Given the description of an element on the screen output the (x, y) to click on. 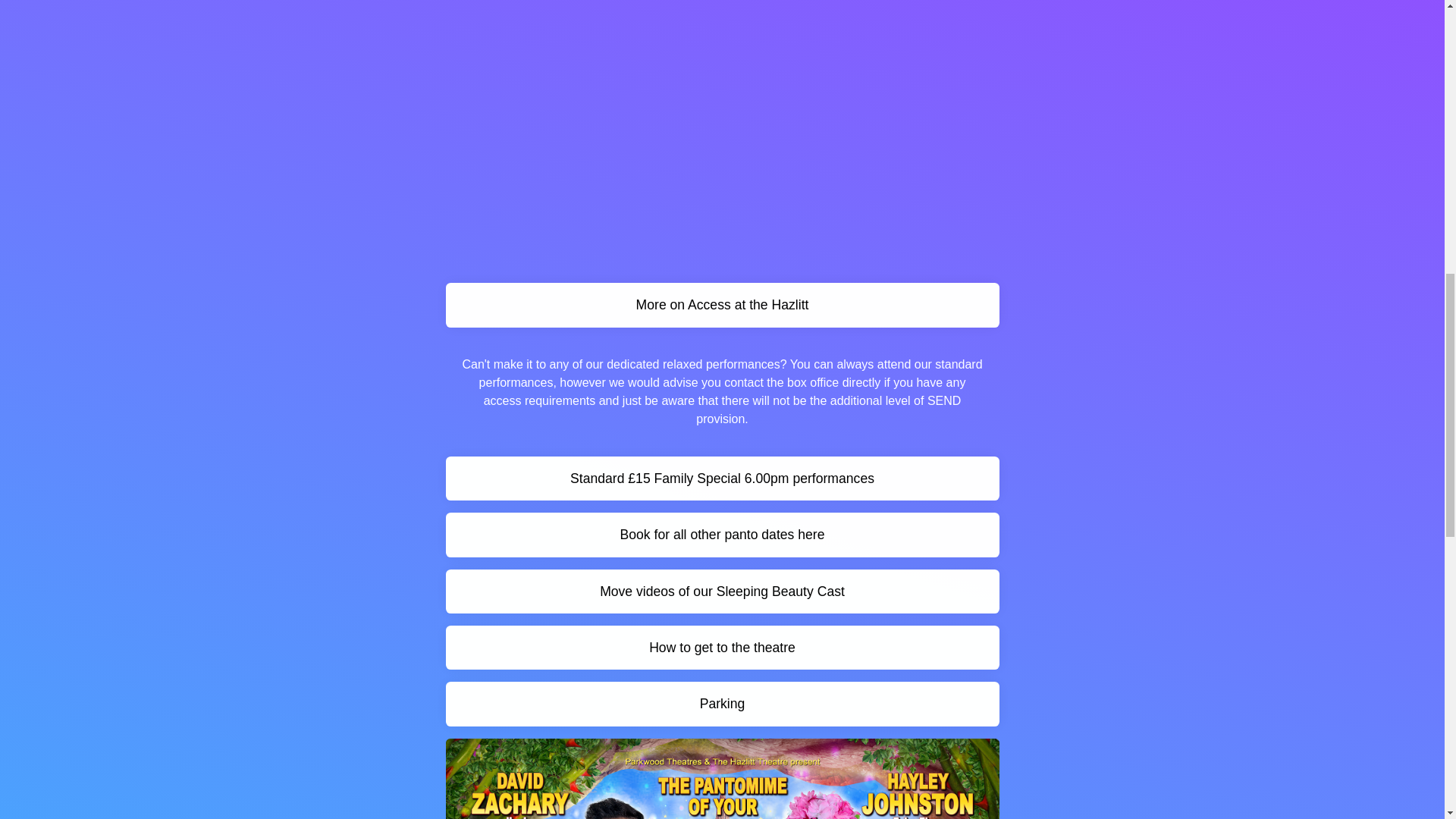
How to get to the theatre (721, 647)
Parking (721, 703)
Book for all other panto dates here (721, 534)
Move videos of our Sleeping Beauty Cast (721, 591)
More on Access at the Hazlitt (721, 304)
